Given the description of an element on the screen output the (x, y) to click on. 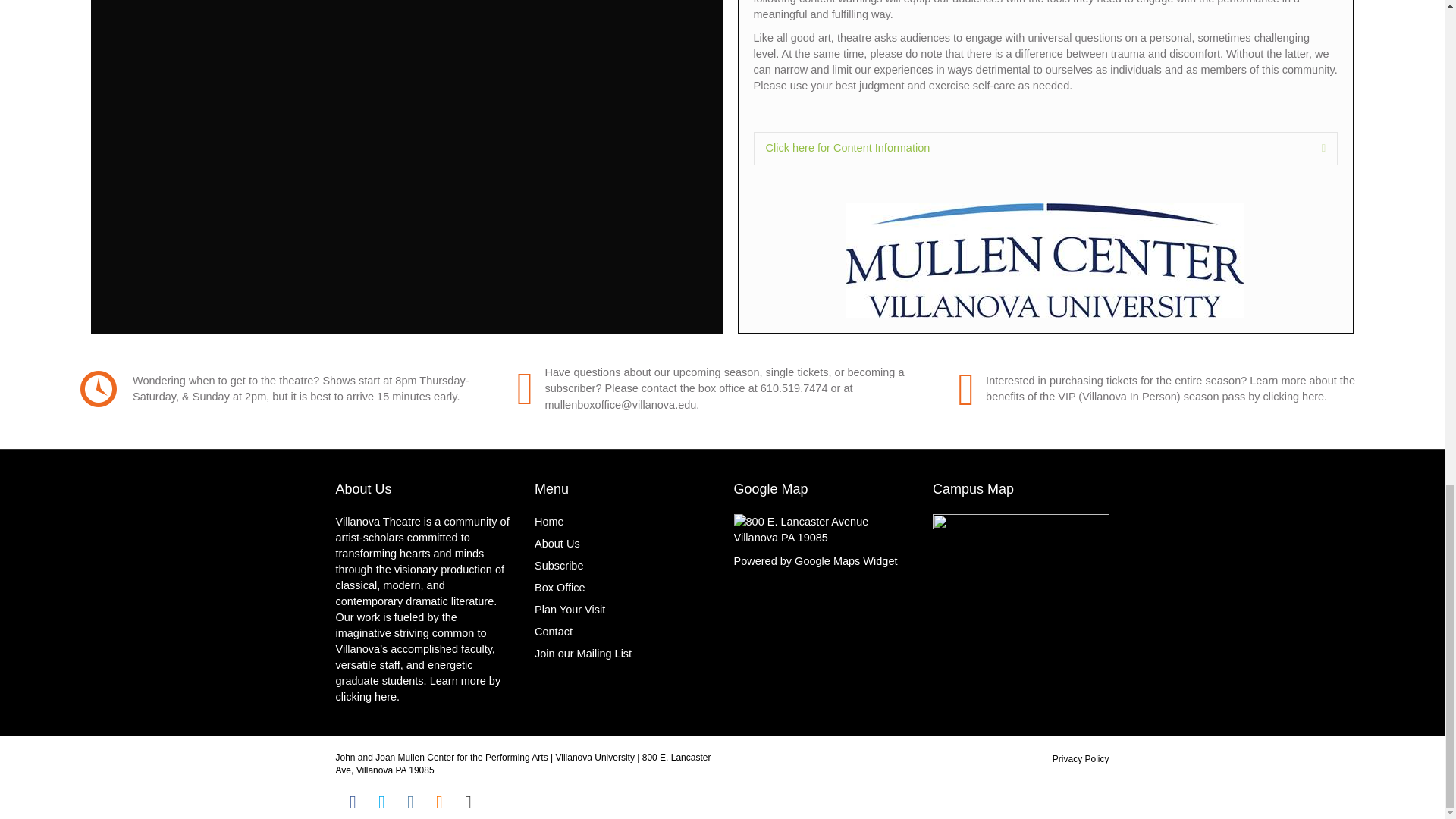
mullen-center-logo (1044, 259)
800 E. Lancaster Avenue Villanova PA 19085 (822, 530)
